Given the description of an element on the screen output the (x, y) to click on. 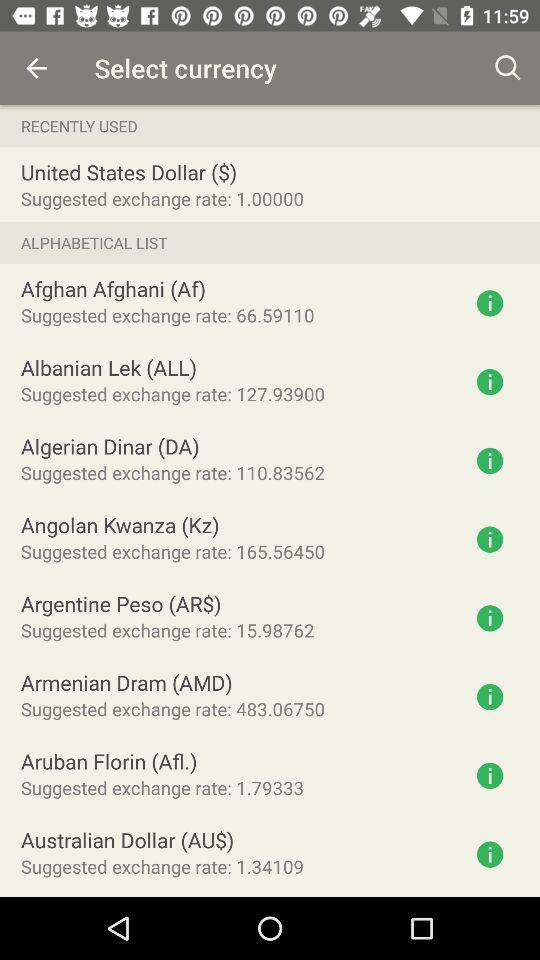
more information (490, 697)
